Given the description of an element on the screen output the (x, y) to click on. 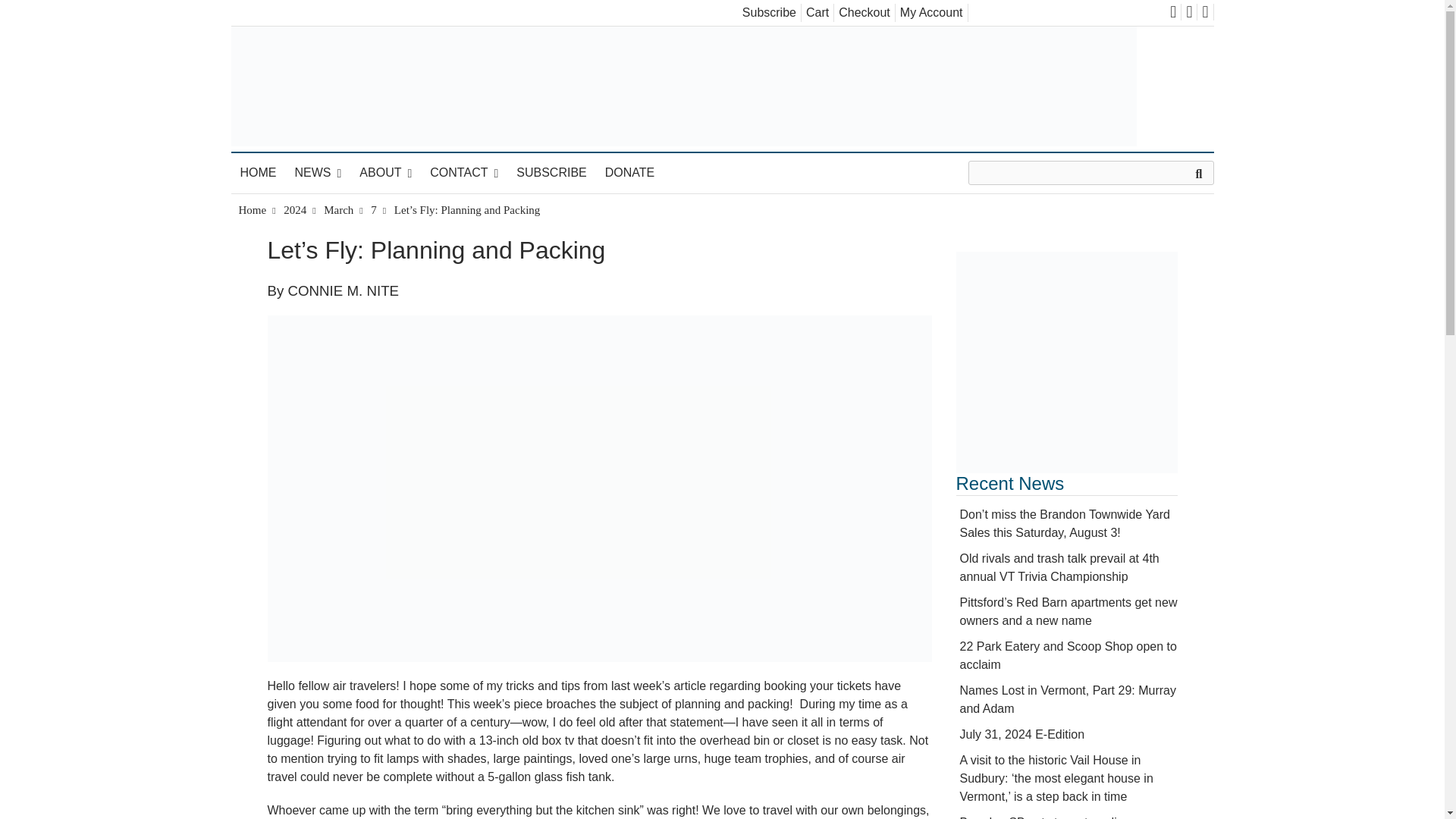
Checkout (863, 11)
Subscribe (769, 11)
The Brandon Reporter (323, 165)
Cart (817, 11)
DONATE (629, 172)
SUBSCRIBE (550, 172)
March (338, 209)
My Account (930, 11)
HOME (257, 172)
CONTACT (463, 173)
NEWS (317, 173)
ABOUT (385, 173)
2024 (294, 209)
Home (252, 209)
